Given the description of an element on the screen output the (x, y) to click on. 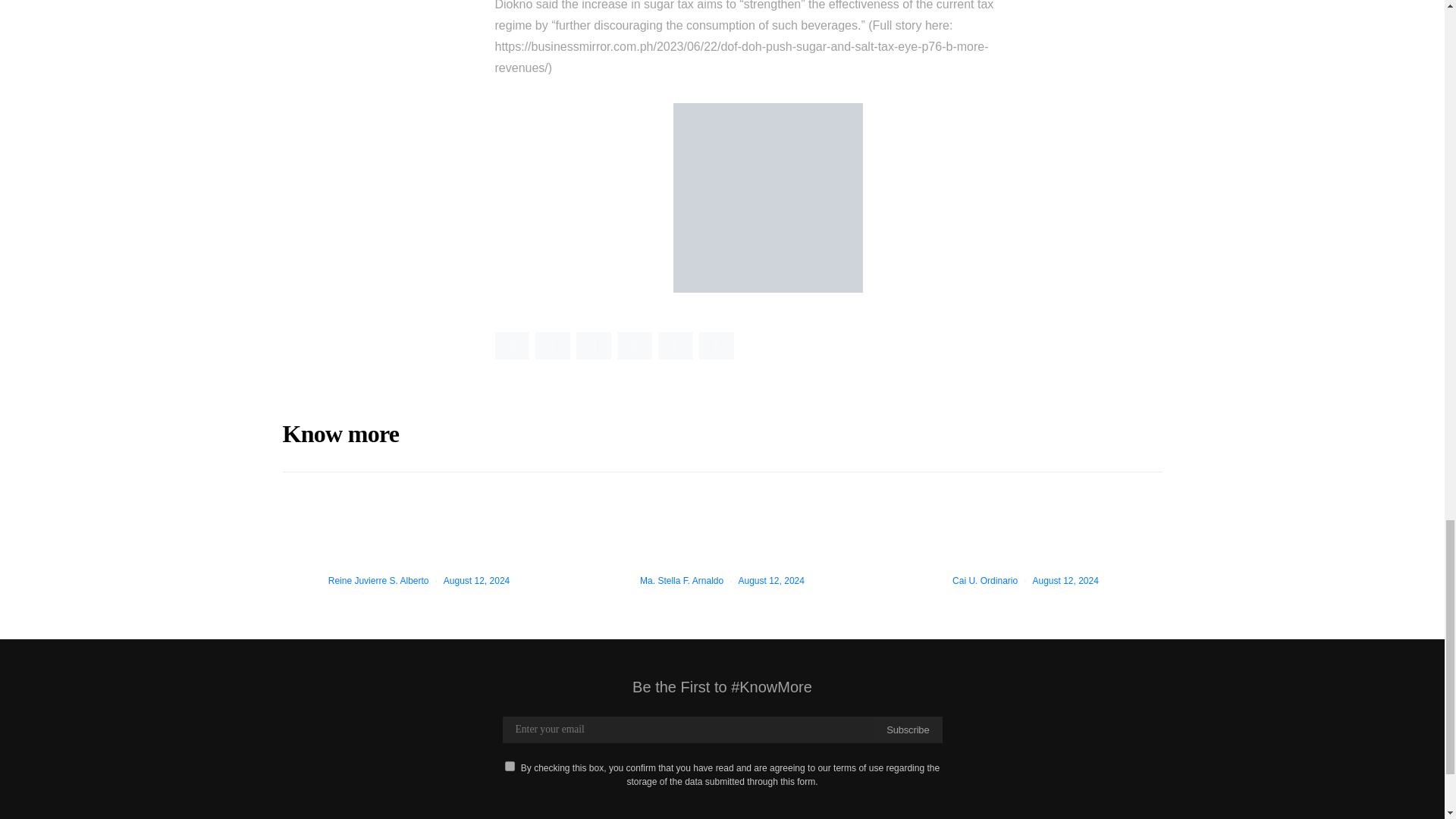
on (510, 766)
View all posts by Cai U. Ordinario (984, 580)
View all posts by Ma. Stella F. Arnaldo (681, 580)
View all posts by Reine Juvierre S. Alberto (379, 580)
